Given the description of an element on the screen output the (x, y) to click on. 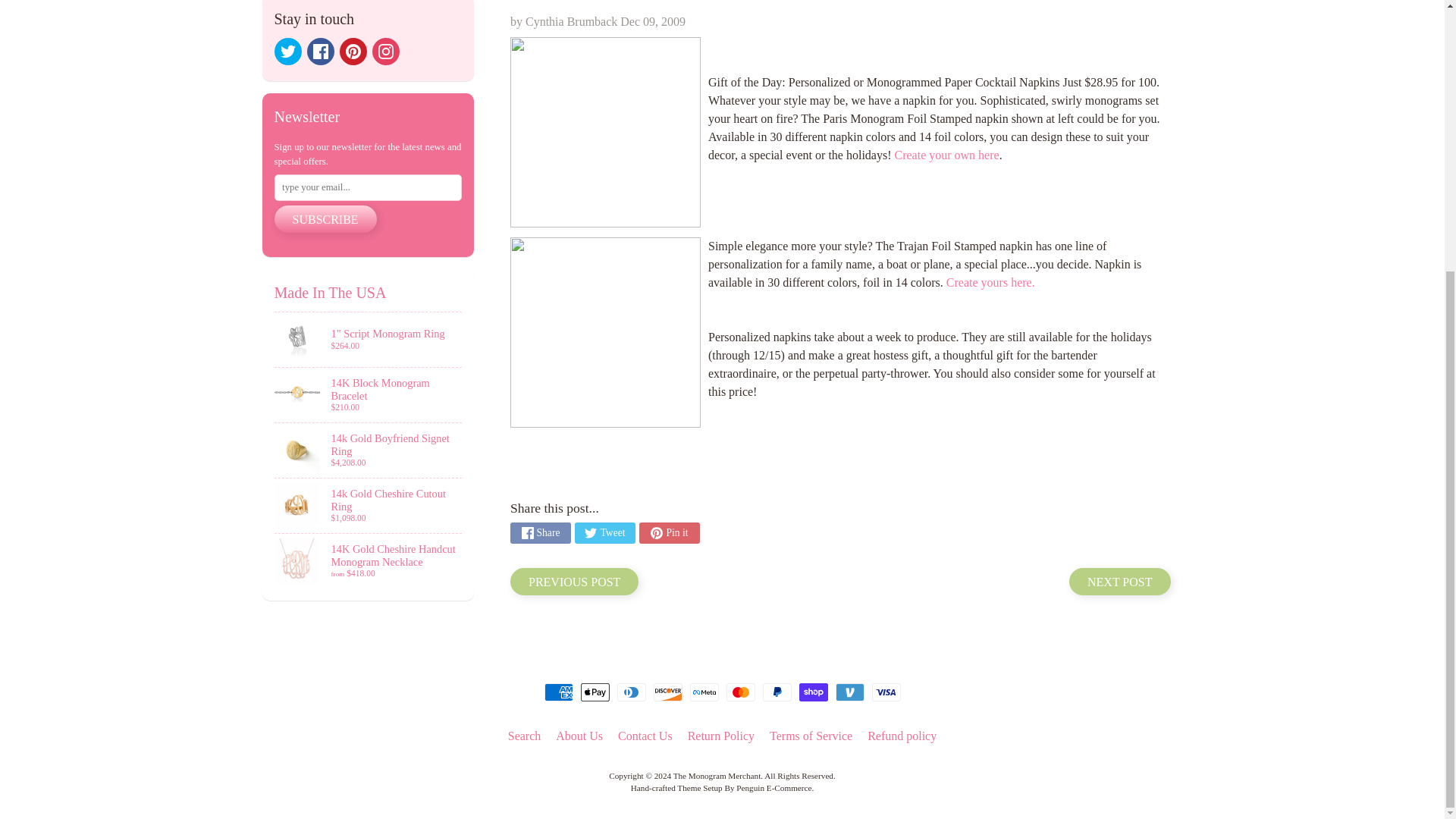
Share on Facebook (540, 532)
Mastercard (740, 692)
14k Gold Boyfriend Signet Ring (369, 450)
1" Script Monogram Ring (369, 339)
PayPal (777, 692)
Apple Pay (595, 692)
Venmo (849, 692)
American Express (558, 692)
Diners Club (631, 692)
Pin on Pinterest (669, 532)
14K Block Monogram Bracelet (369, 394)
Instagram (384, 51)
Pinterest (352, 51)
Twitter (288, 51)
14k Gold Cheshire Cutout Ring (369, 505)
